Given the description of an element on the screen output the (x, y) to click on. 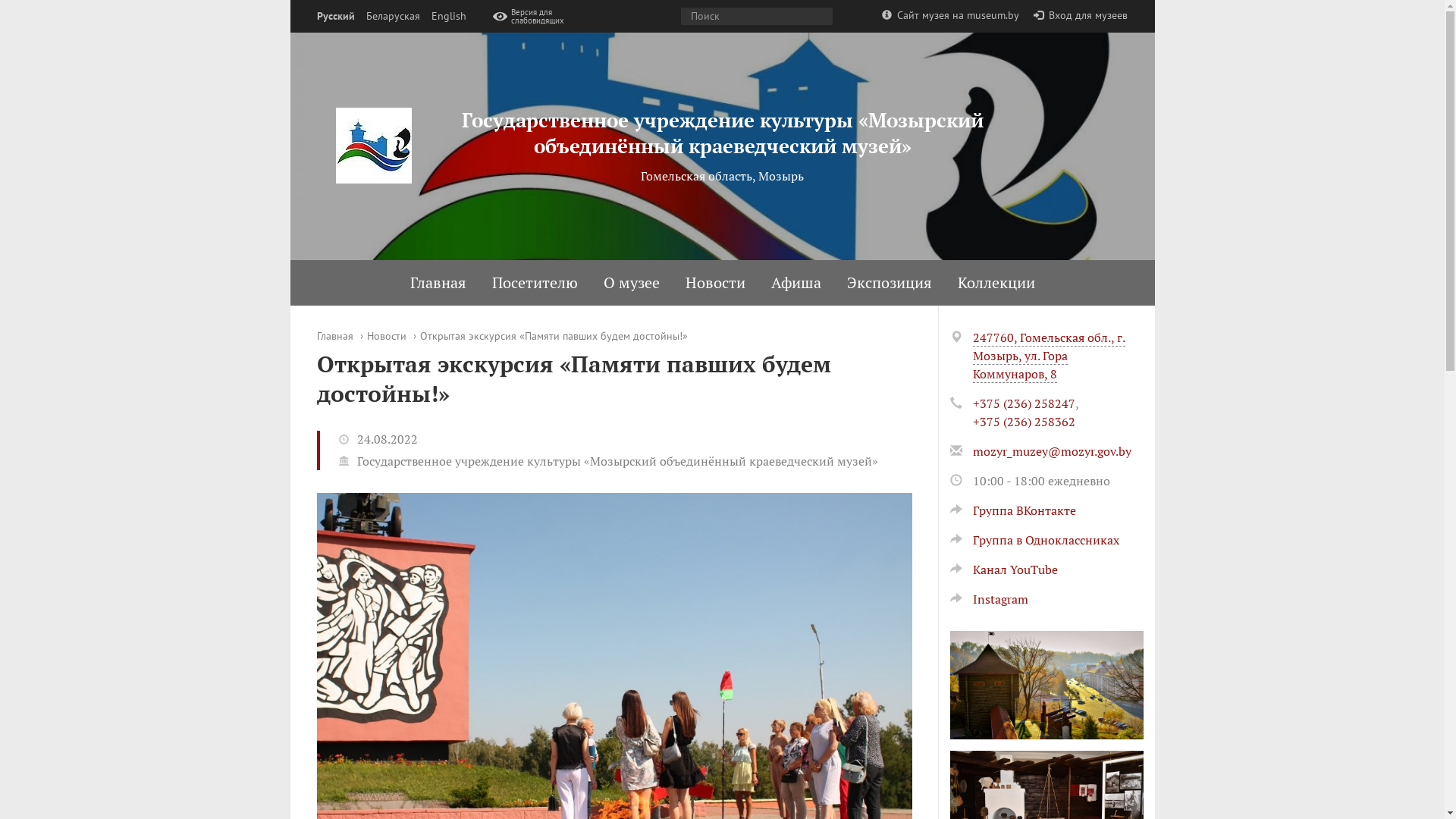
+375 (236) 258247 Element type: text (1023, 403)
mozyr_muzey@mozyr.gov.by Element type: text (1051, 450)
+375 (236) 258362 Element type: text (1023, 421)
English Element type: text (447, 16)
Instagram Element type: text (988, 598)
